Given the description of an element on the screen output the (x, y) to click on. 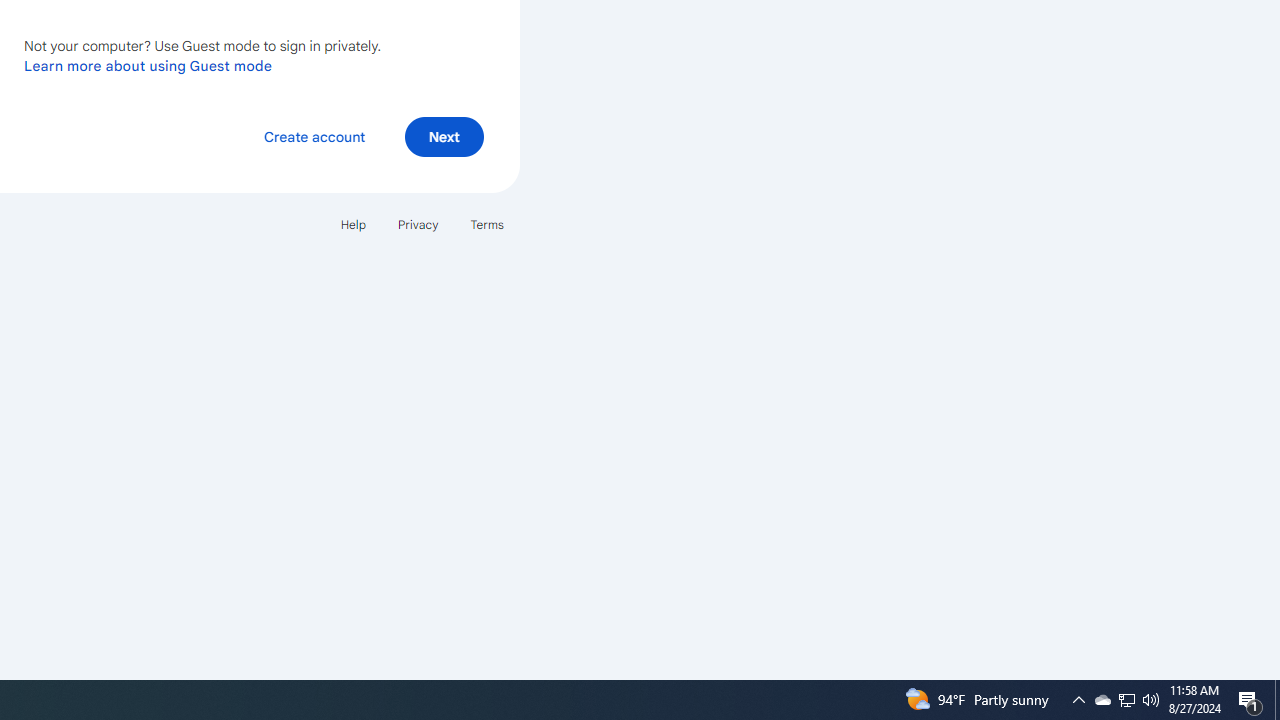
Learn more about using Guest mode (148, 65)
Create account (314, 135)
Privacy (417, 224)
Terms (486, 224)
Next (443, 135)
Help (352, 224)
